Given the description of an element on the screen output the (x, y) to click on. 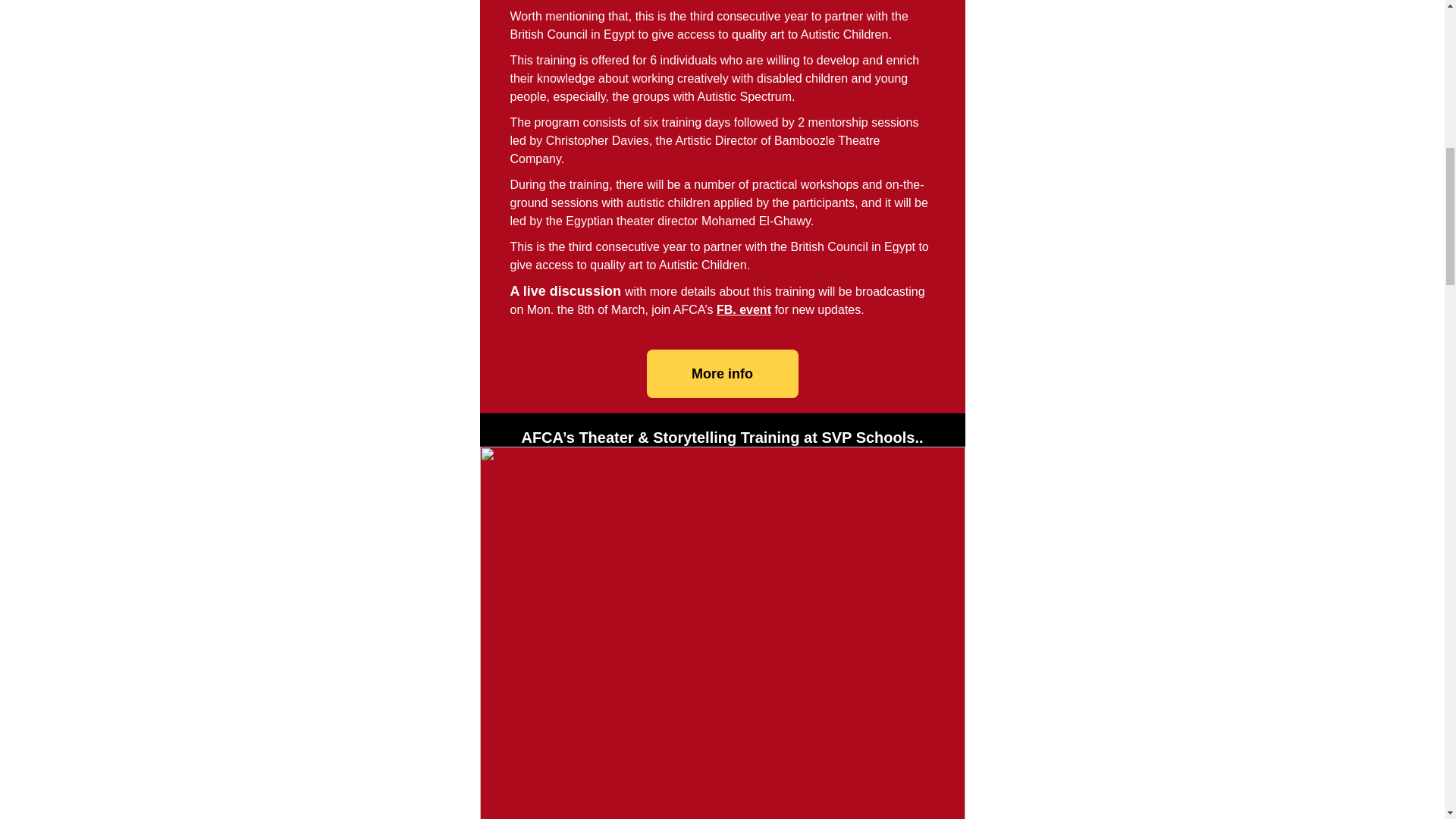
FB. event (743, 309)
More info (721, 373)
